Given the description of an element on the screen output the (x, y) to click on. 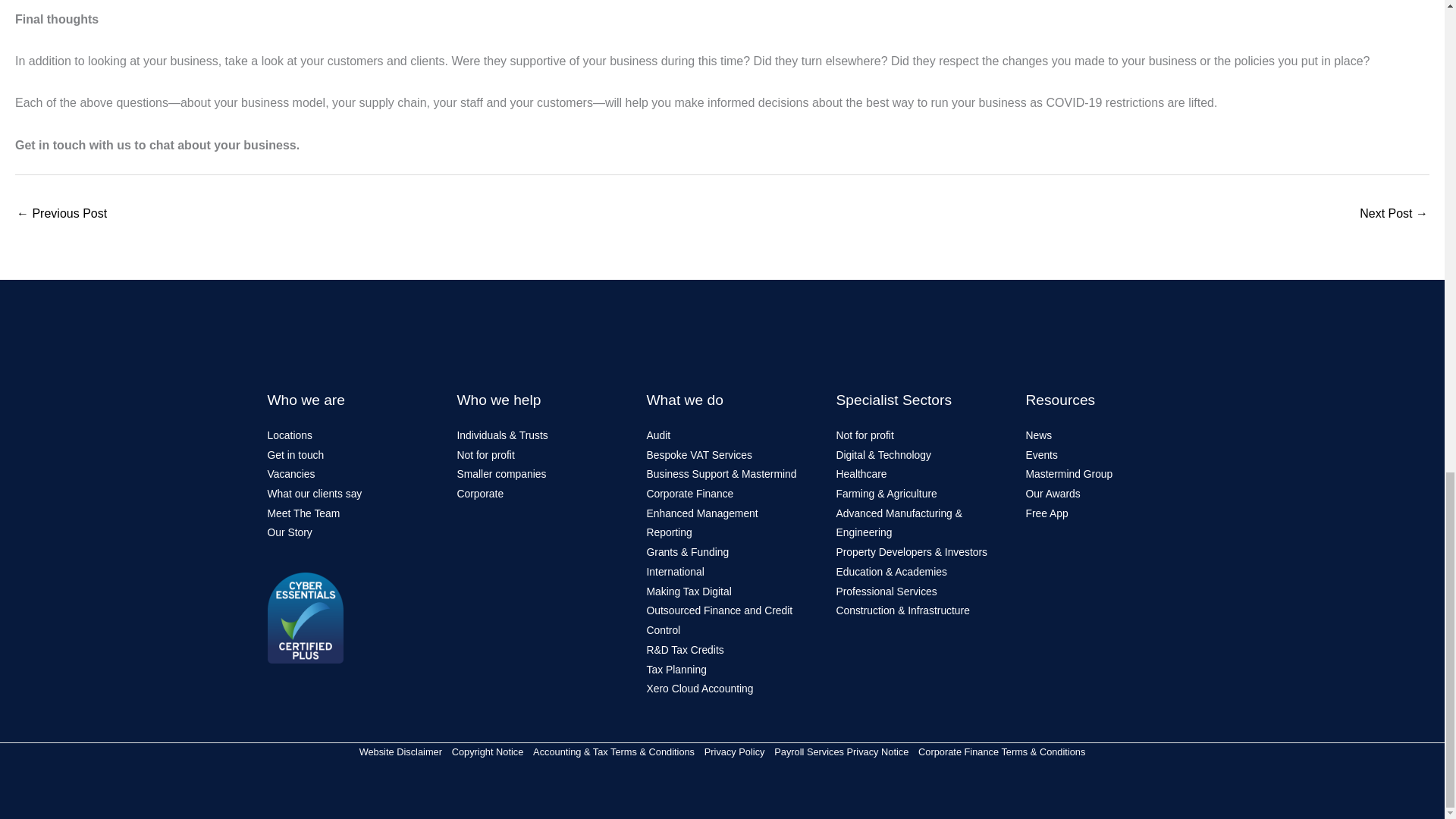
Meet The Team (302, 512)
Get in touch (294, 454)
Audit (657, 435)
Bespoke VAT Services (698, 454)
Smaller companies (501, 473)
Corporate (480, 493)
Our Story (288, 532)
Locations (288, 435)
Vacancies (290, 473)
How your business can thrive even in a recession (1393, 214)
